Given the description of an element on the screen output the (x, y) to click on. 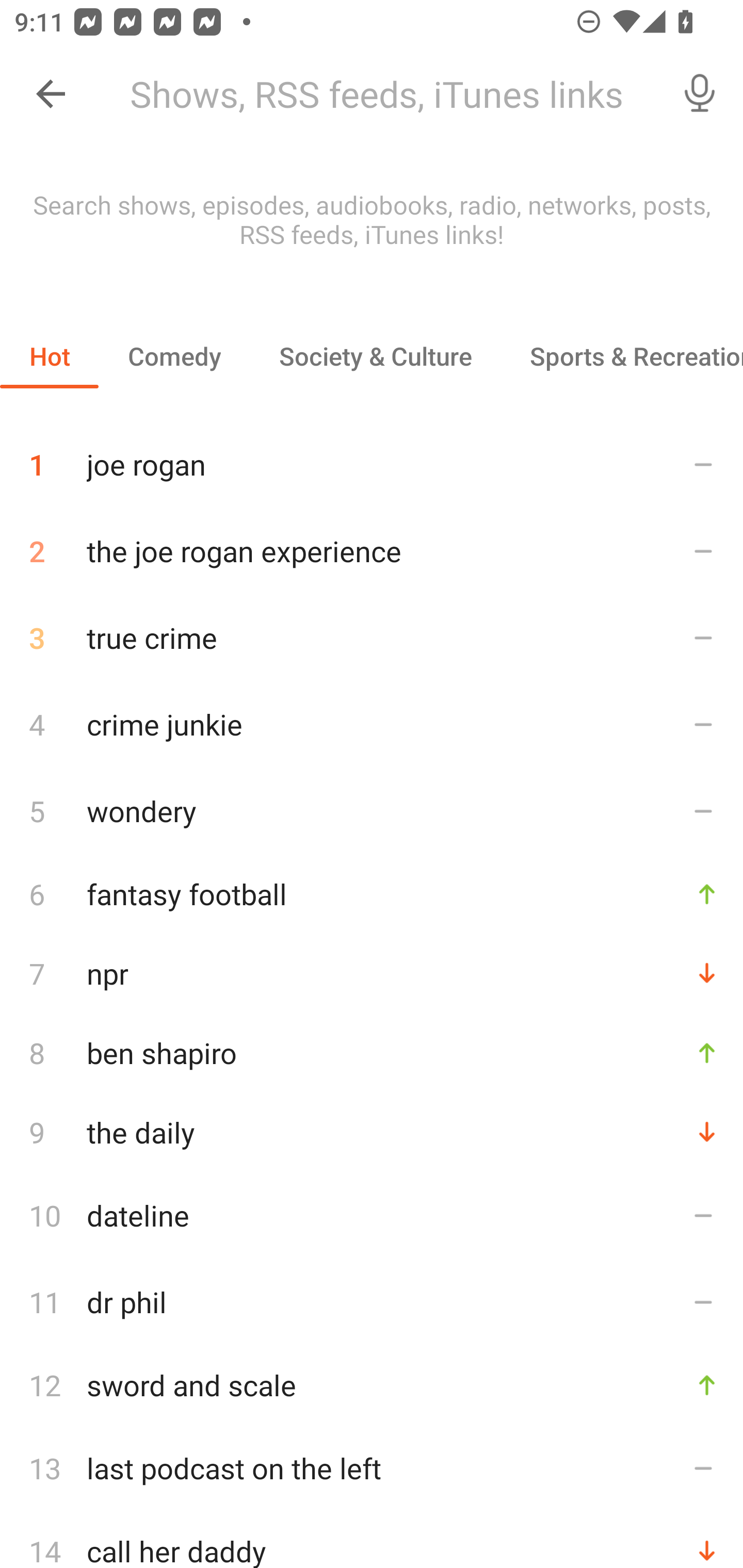
Collapse (50, 93)
Voice Search (699, 93)
Shows, RSS feeds, iTunes links (385, 94)
Hot (49, 355)
Comedy (173, 355)
Society & Culture (374, 355)
Sports & Recreation (621, 355)
1 joe rogan (371, 457)
2 the joe rogan experience (371, 551)
3 true crime (371, 637)
4 crime junkie (371, 723)
5 wondery (371, 810)
6 fantasy football (371, 893)
7 npr (371, 972)
8 ben shapiro (371, 1052)
9 the daily (371, 1131)
10 dateline (371, 1215)
11 dr phil (371, 1302)
12 sword and scale (371, 1385)
13 last podcast on the left (371, 1468)
14 call her daddy (371, 1539)
